Given the description of an element on the screen output the (x, y) to click on. 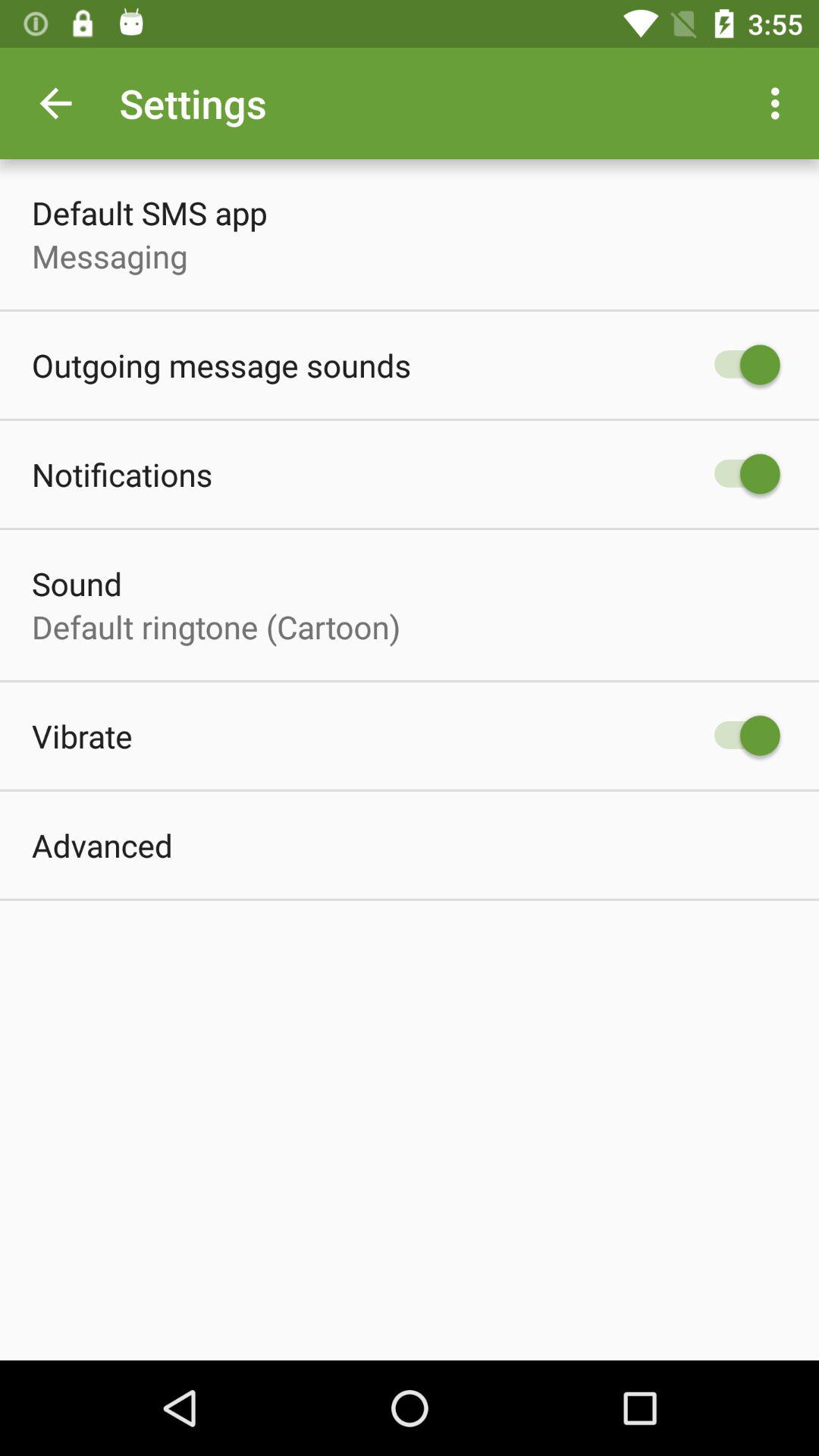
launch the item below messaging icon (221, 364)
